Given the description of an element on the screen output the (x, y) to click on. 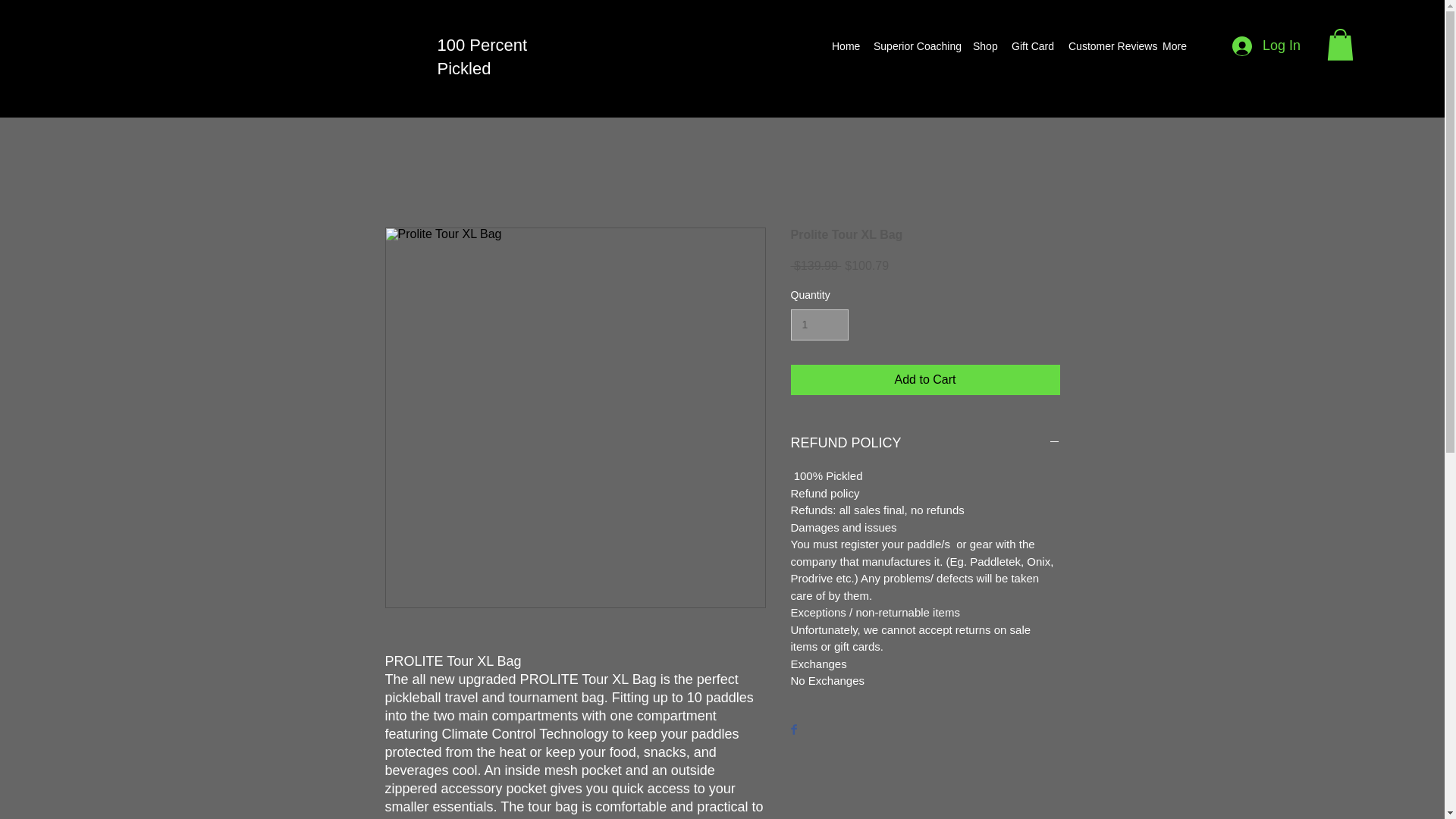
Add to Cart (924, 379)
1 (818, 324)
Customer Reviews (1107, 46)
Gift Card (1032, 46)
Shop (984, 46)
Superior Coaching (915, 46)
Log In (1266, 46)
Home (845, 46)
REFUND POLICY (924, 443)
